Given the description of an element on the screen output the (x, y) to click on. 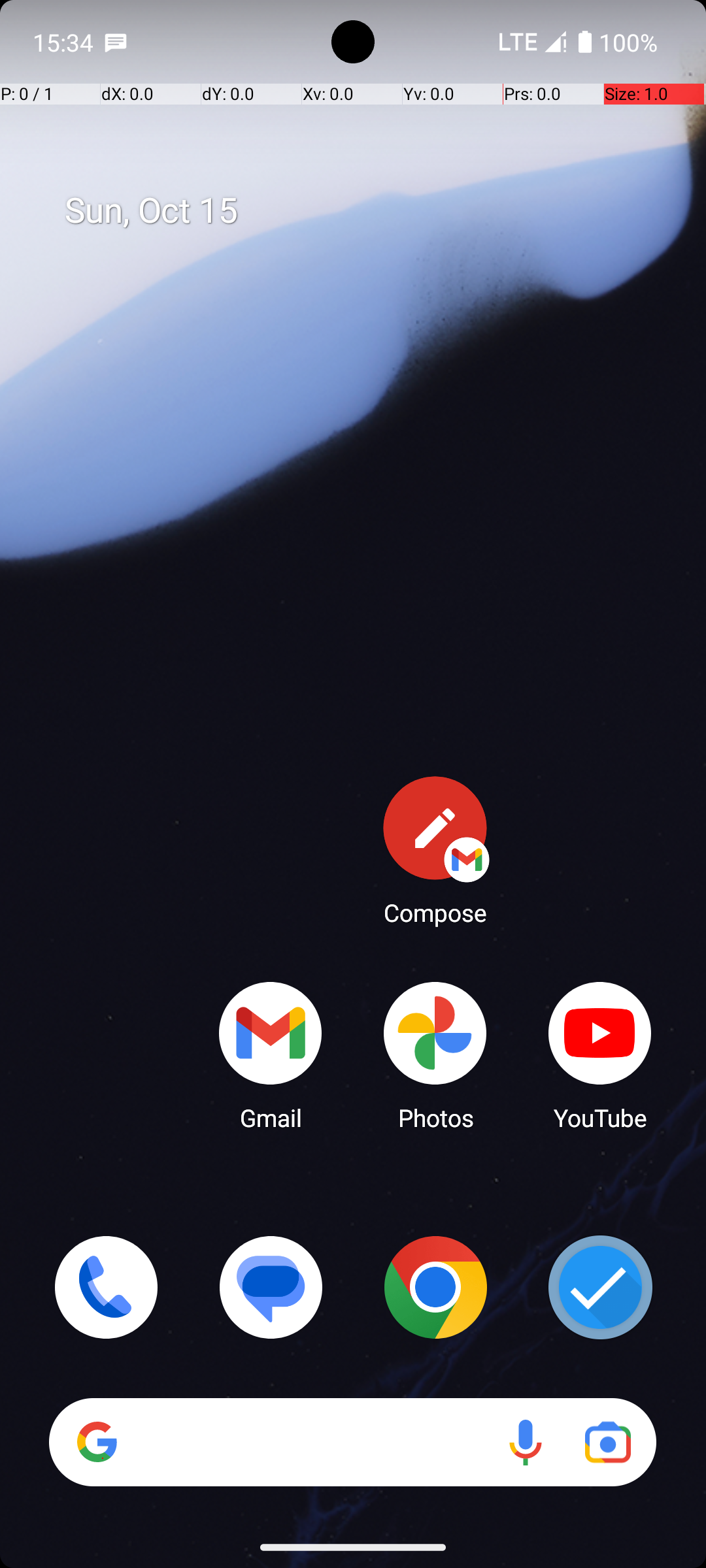
Compose Element type: android.widget.TextView (435, 849)
